Given the description of an element on the screen output the (x, y) to click on. 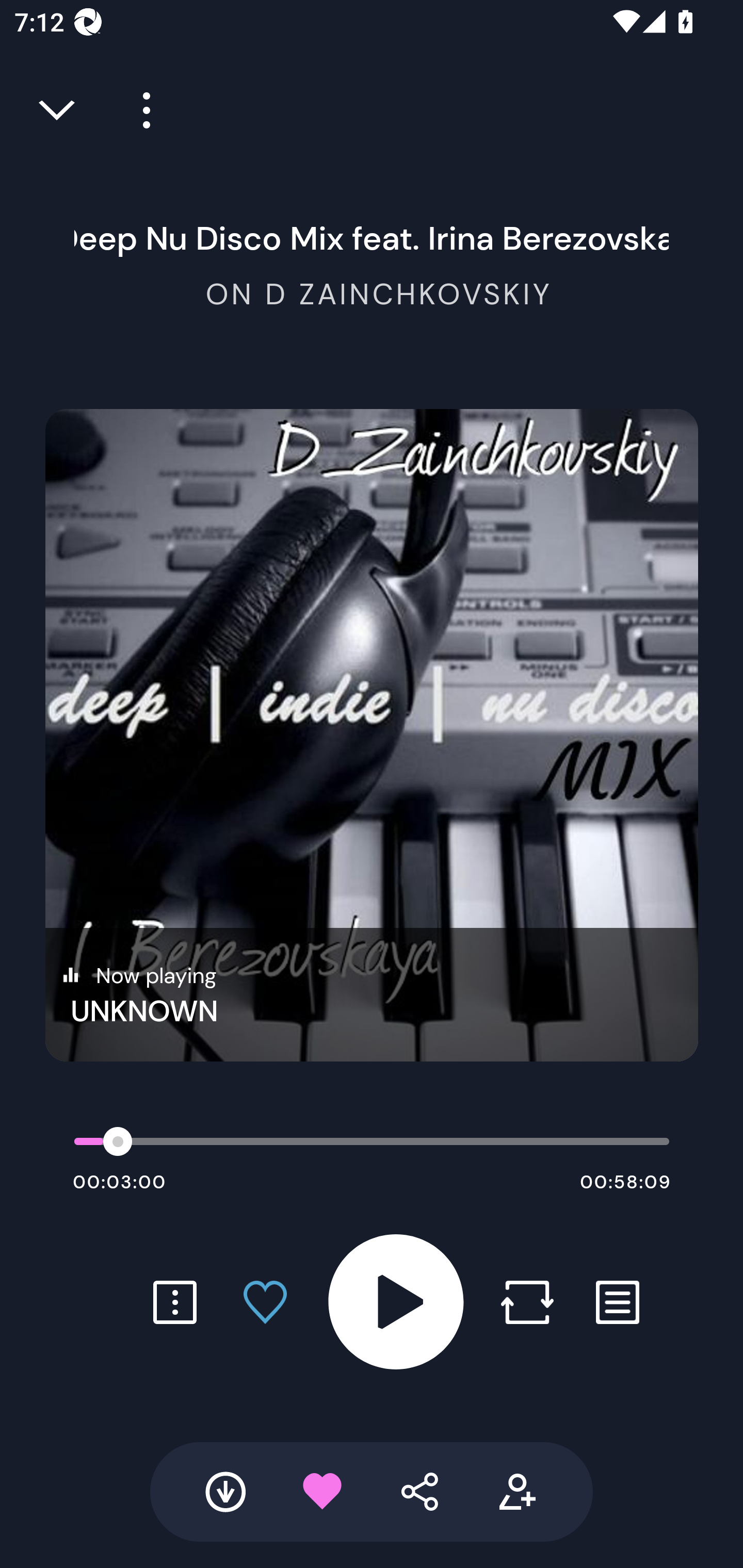
Close full player (58, 110)
Player more options button (139, 110)
Repost button (527, 1301)
